Given the description of an element on the screen output the (x, y) to click on. 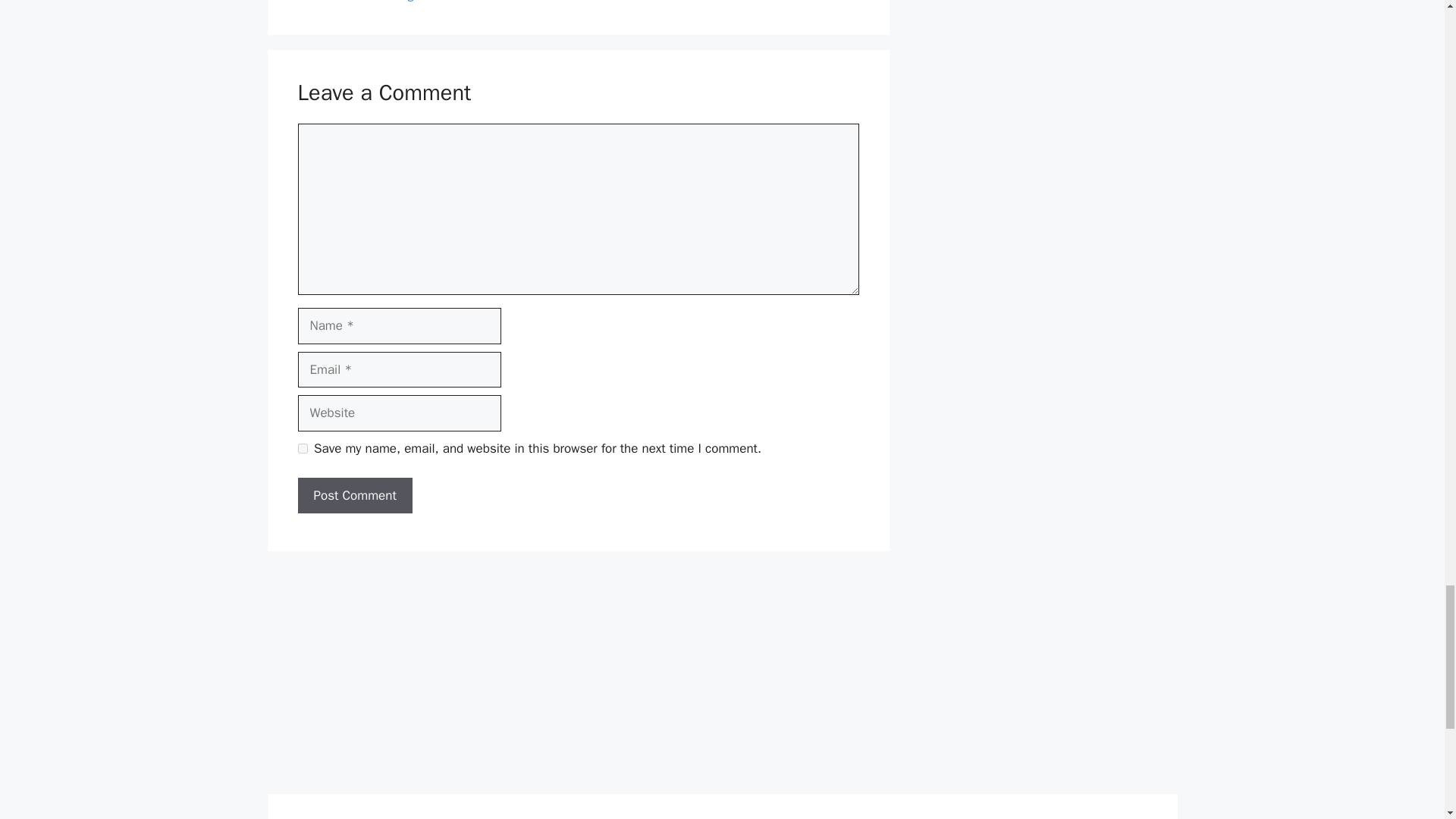
Post Comment (354, 495)
yes (302, 448)
Post Comment (354, 495)
Access Jobs in Bangladesh (380, 1)
